Given the description of an element on the screen output the (x, y) to click on. 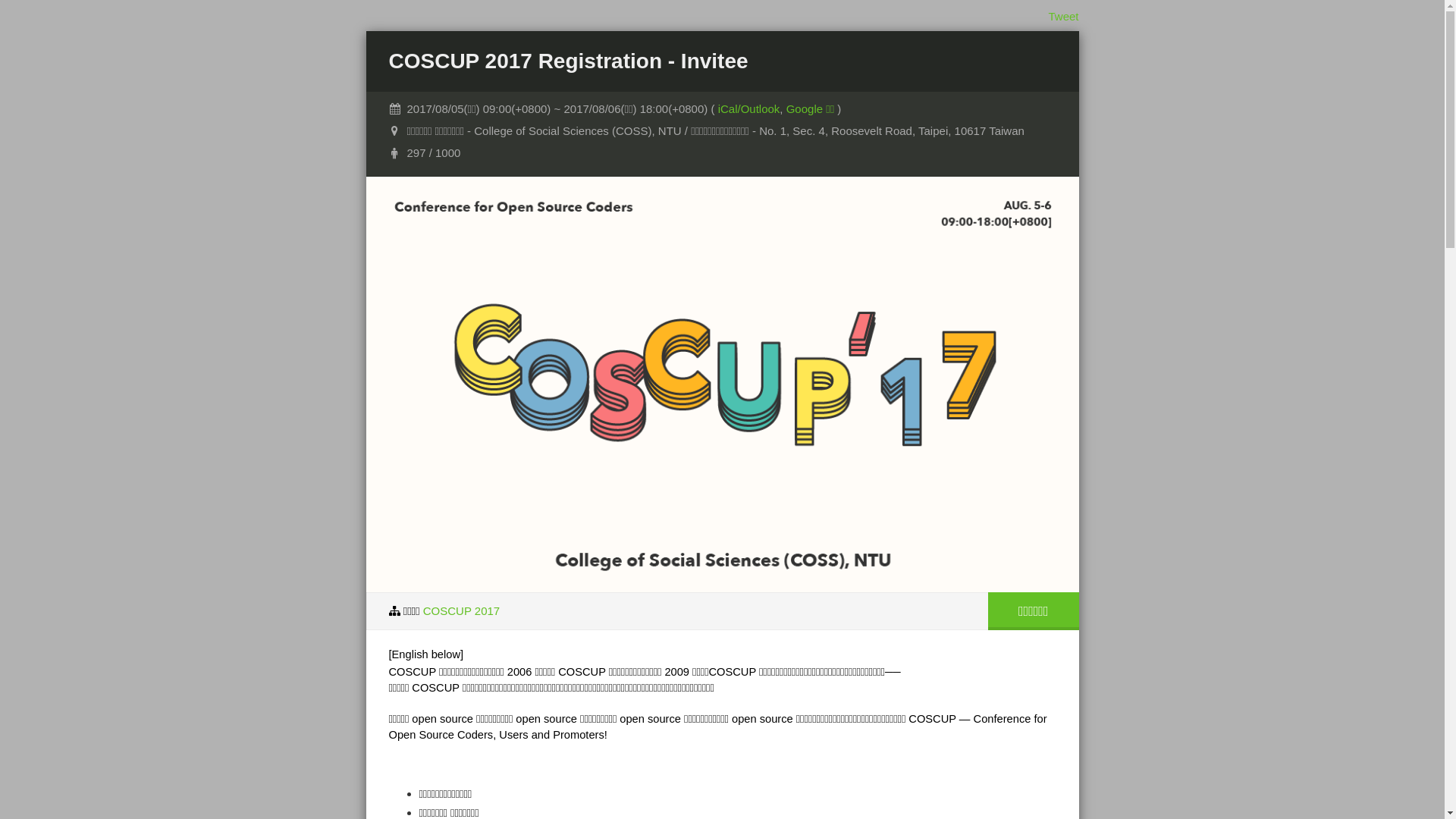
COSCUP 2017 Element type: text (461, 610)
Tweet Element type: text (1063, 15)
iCal/Outlook Element type: text (749, 108)
